Given the description of an element on the screen output the (x, y) to click on. 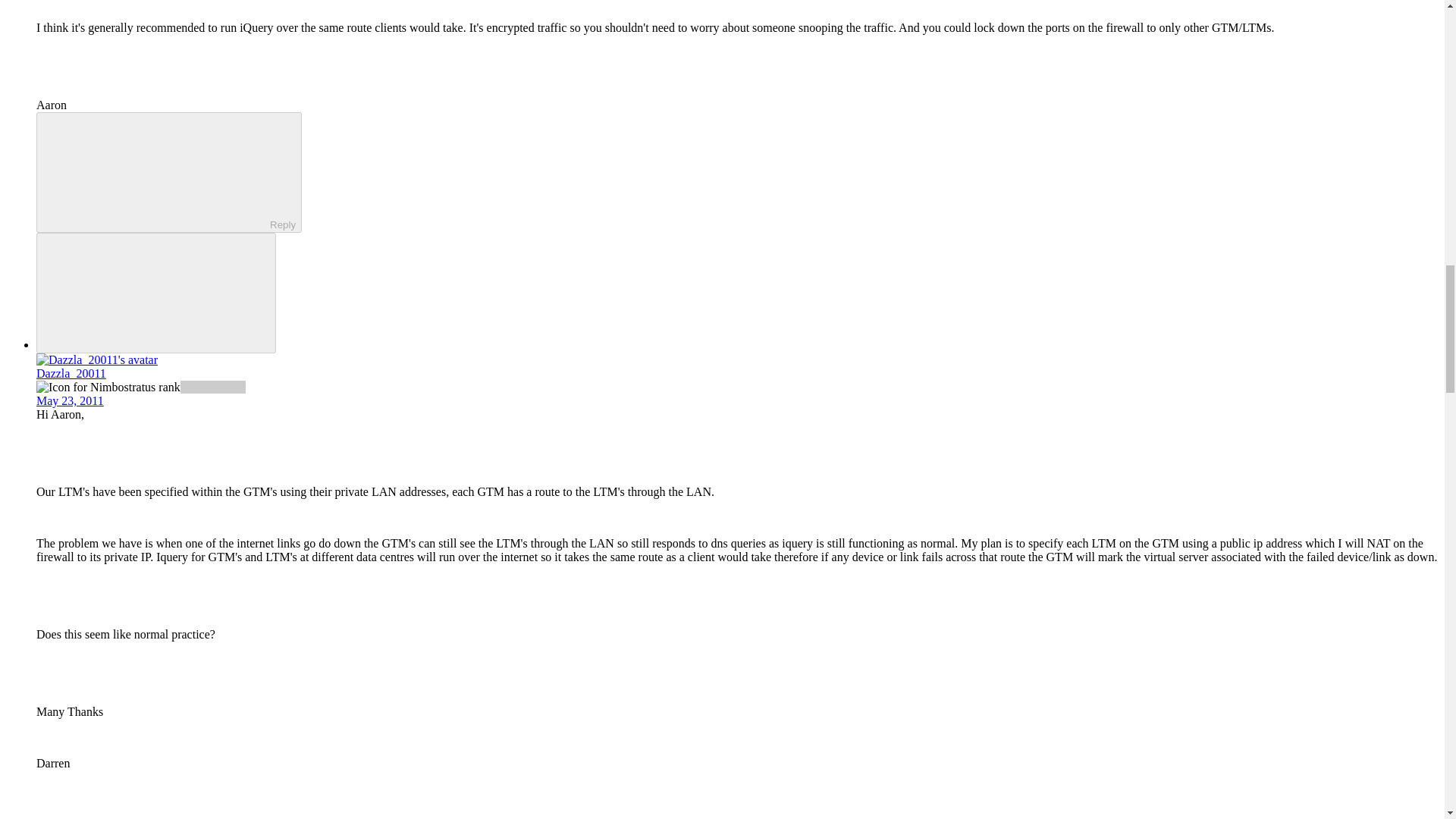
May 23, 2011 at 9:18 PM (69, 400)
ReplyReply (168, 172)
Reply (155, 171)
May 23, 2011 (69, 400)
